Given the description of an element on the screen output the (x, y) to click on. 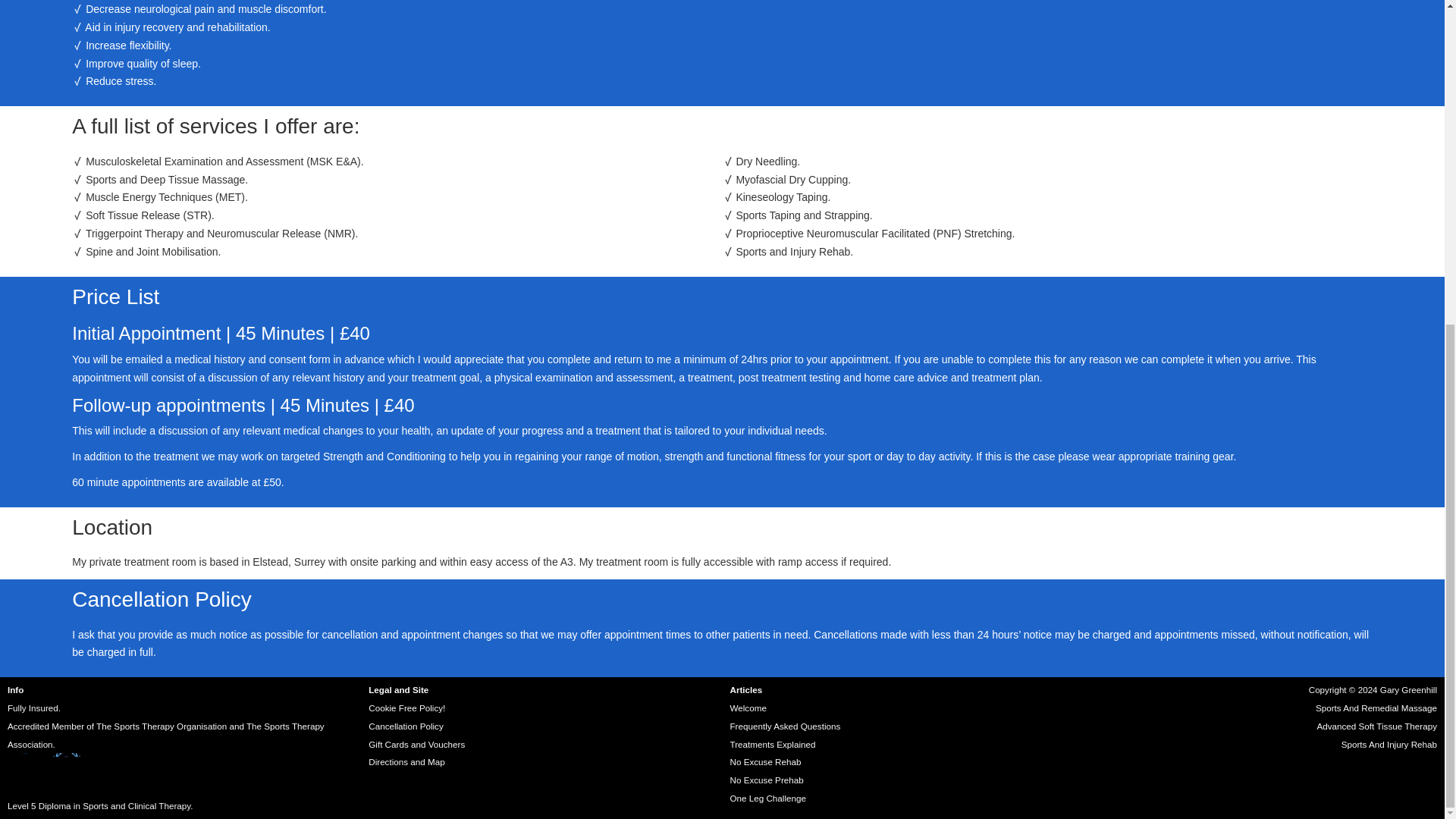
Frequently Asked Questions (784, 726)
No Excuse Prehab (766, 779)
Cancellation Policy (405, 726)
Gift Cards and Vouchers (416, 744)
Directions and Map (406, 761)
One Leg Challenge (767, 798)
No Excuse Rehab (764, 761)
Welcome (747, 707)
Treatments Explained (772, 744)
